Given the description of an element on the screen output the (x, y) to click on. 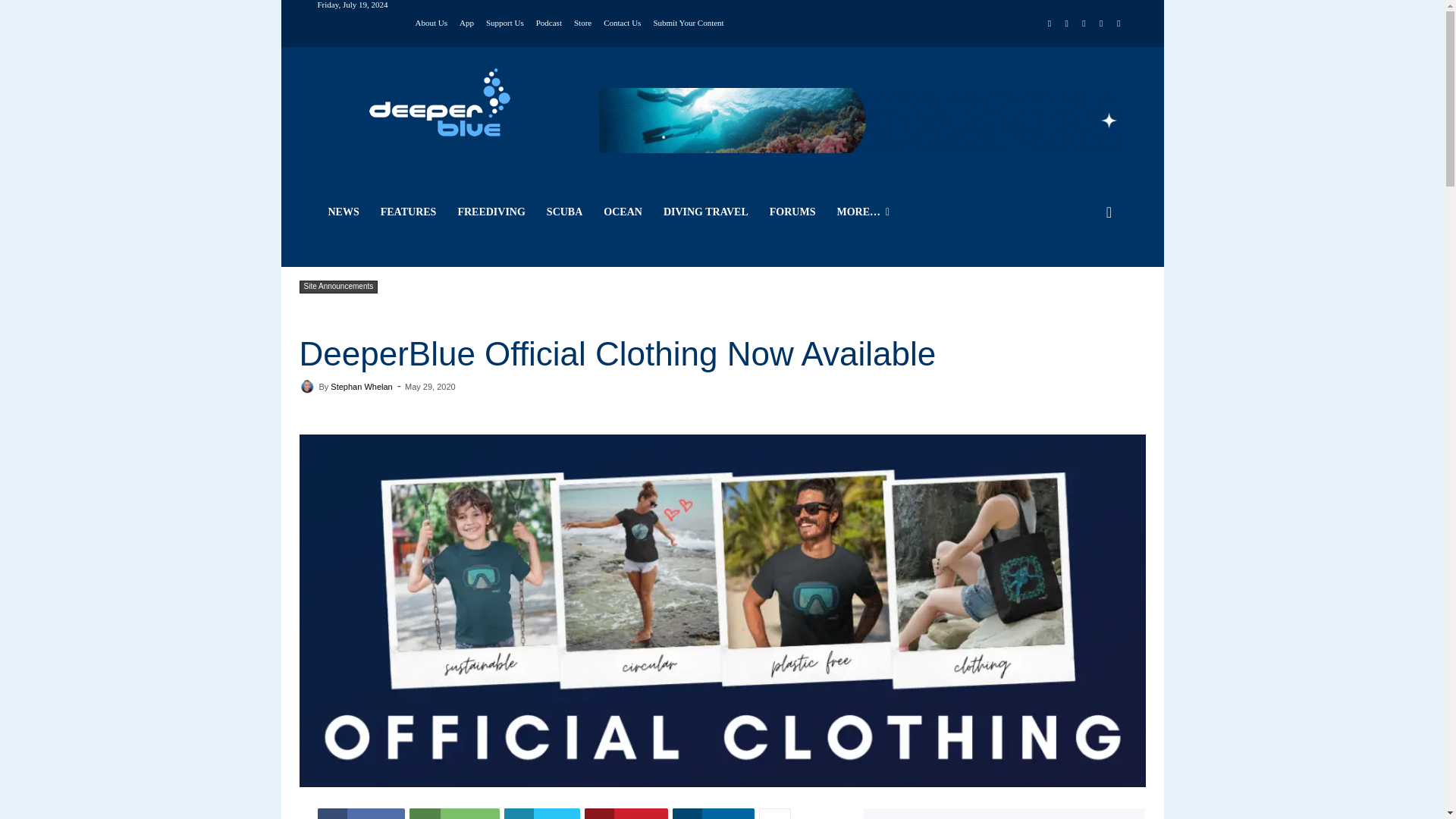
Contact Us (622, 22)
Instagram (1066, 23)
About Us (430, 22)
App (467, 22)
RSS (1084, 23)
Twitter (1101, 23)
Support Us (505, 22)
Podcast (548, 22)
Facebook (1049, 23)
Store (582, 22)
